Given the description of an element on the screen output the (x, y) to click on. 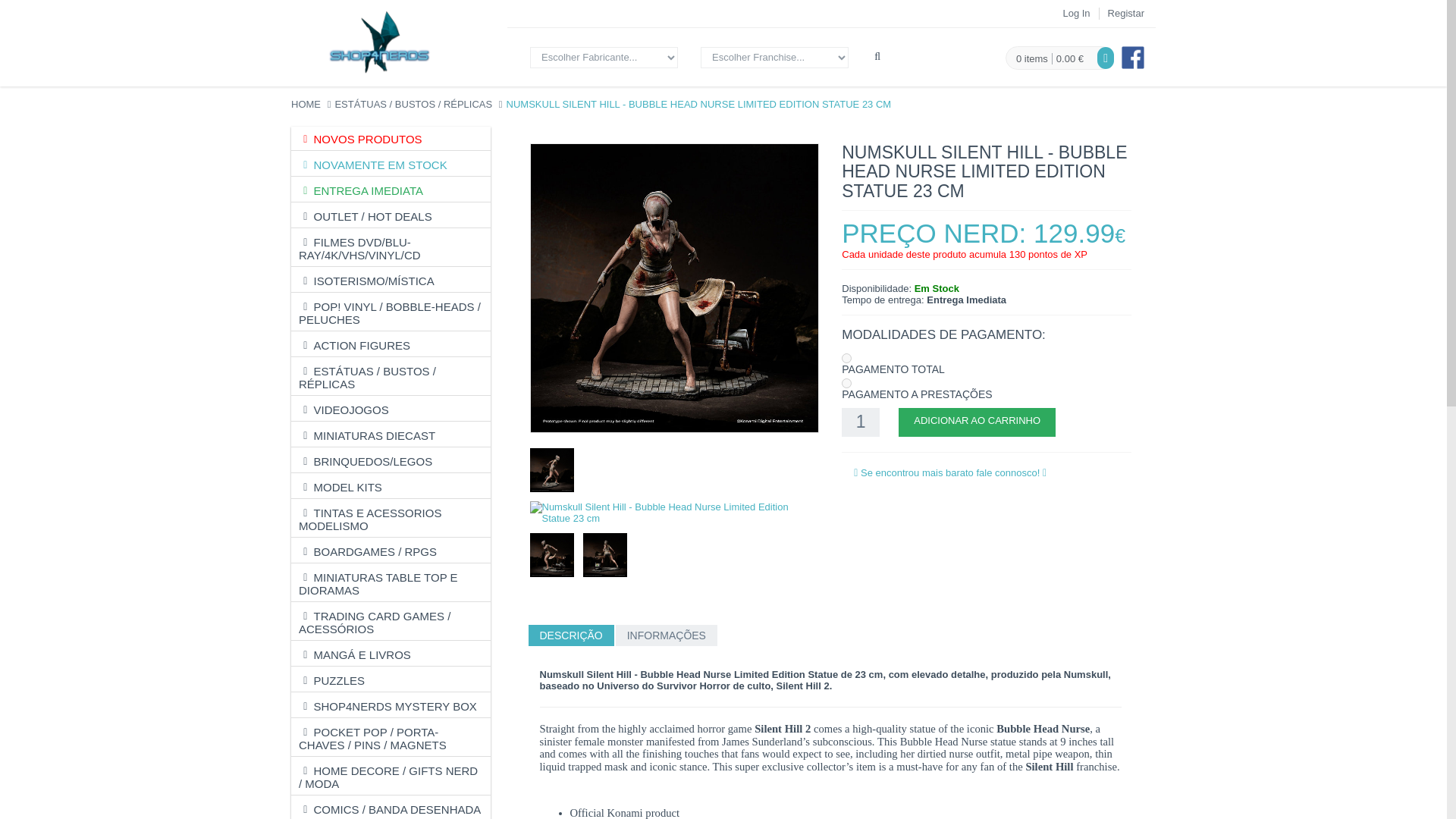
prestacoes (846, 383)
1 (860, 421)
Registar (1126, 12)
0 items (1032, 59)
Log In (1075, 12)
Ir para o nosso Facebook (1132, 56)
total (846, 357)
